Given the description of an element on the screen output the (x, y) to click on. 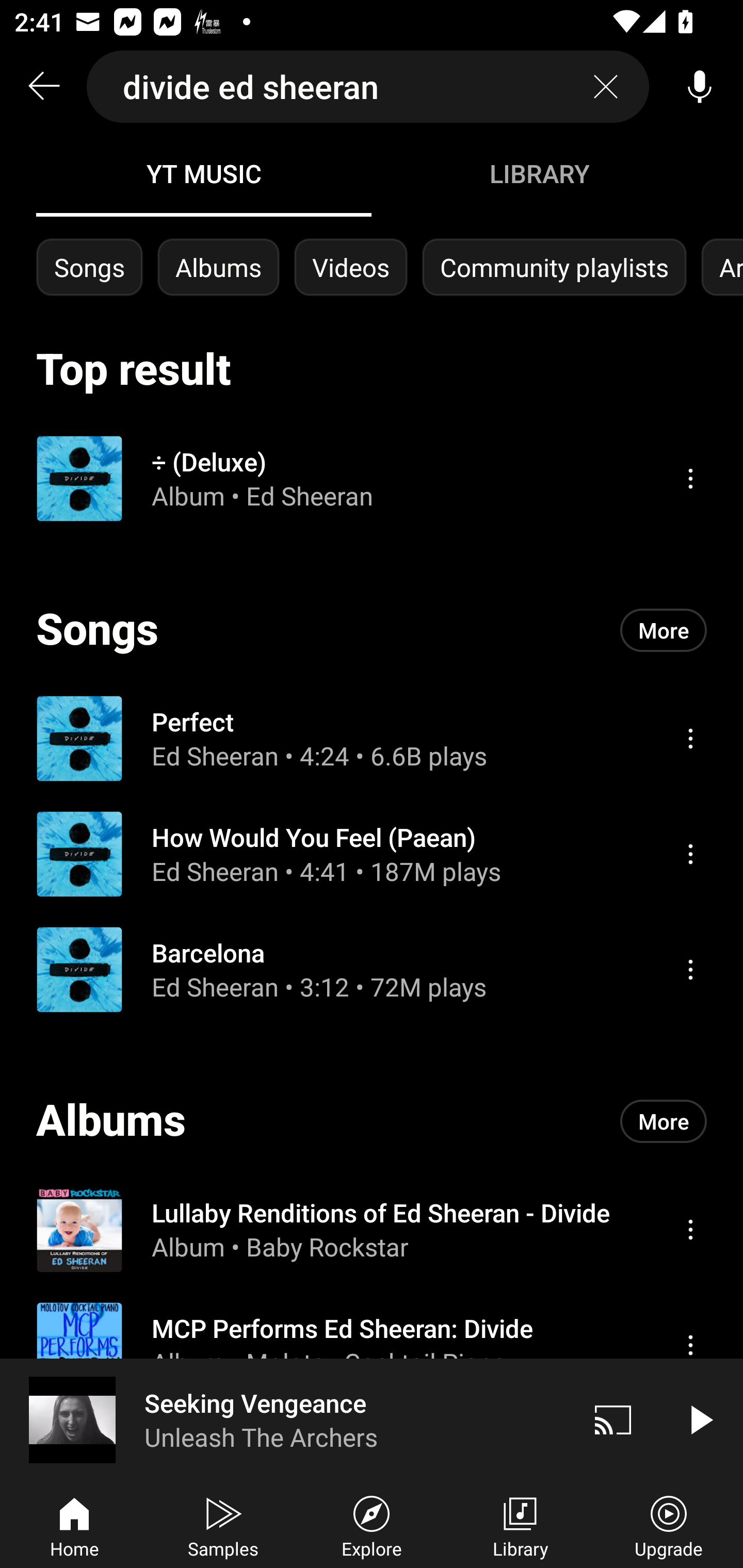
Search back (43, 86)
divide ed sheeran (367, 86)
Clear search (605, 86)
Voice search (699, 86)
Library LIBRARY (538, 173)
Menu (690, 478)
Songs More More (371, 630)
More (663, 630)
Menu (690, 738)
Menu (690, 854)
Menu (690, 968)
Albums More More (371, 1120)
More (663, 1121)
Menu (690, 1229)
Menu (690, 1345)
Seeking Vengeance Unleash The Archers (284, 1419)
Cast. Disconnected (612, 1419)
Play video (699, 1419)
Home (74, 1524)
Samples (222, 1524)
Explore (371, 1524)
Library (519, 1524)
Upgrade (668, 1524)
